Given the description of an element on the screen output the (x, y) to click on. 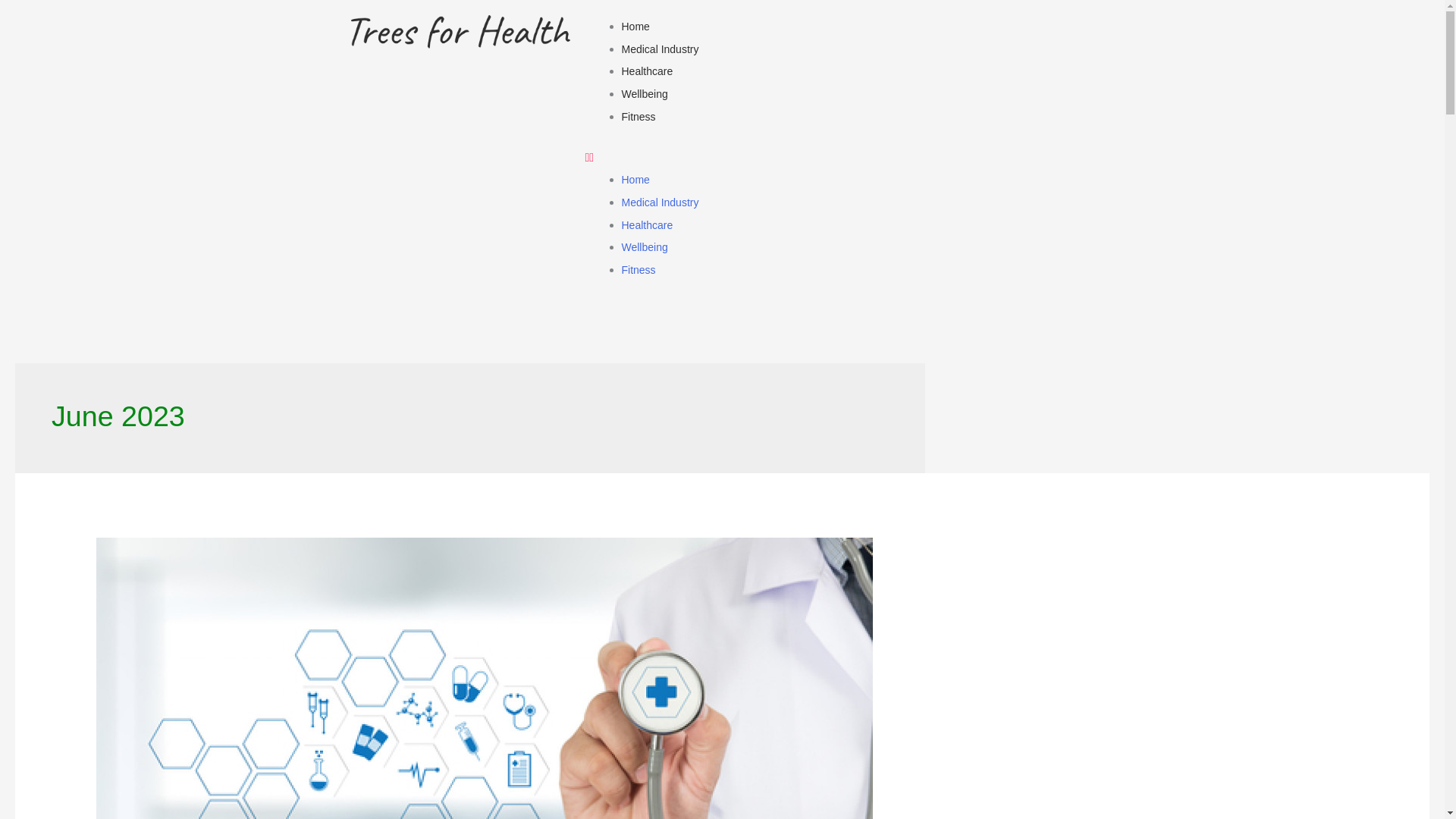
Home (635, 26)
Home (635, 179)
Wellbeing (644, 93)
Fitness (638, 269)
Healthcare (646, 70)
Medical Industry (659, 49)
Fitness (638, 116)
Wellbeing (644, 246)
Medical Industry (659, 202)
Healthcare (646, 224)
